Given the description of an element on the screen output the (x, y) to click on. 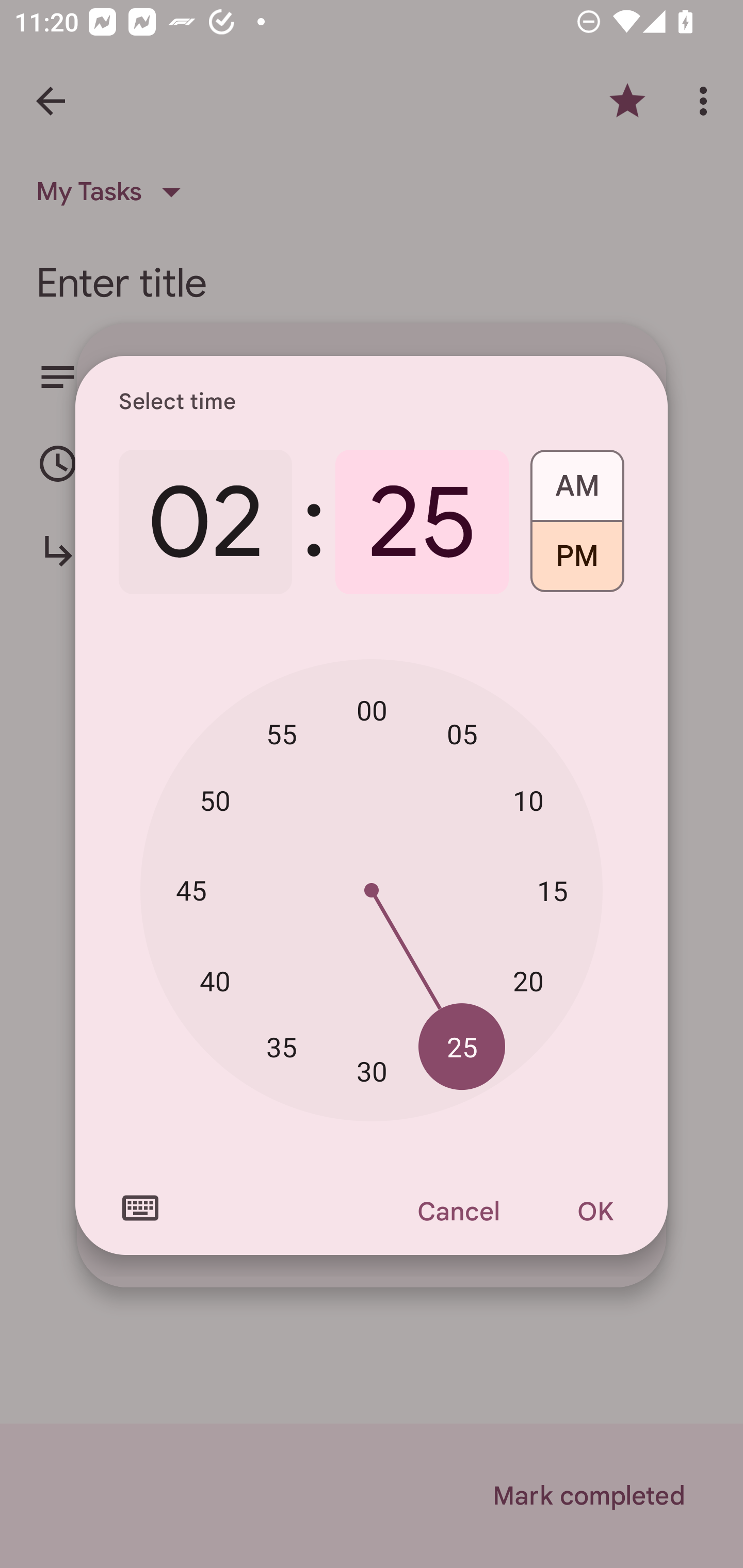
AM (577, 478)
02 2 o'clock (204, 522)
25 25 minutes (421, 522)
PM (577, 563)
00 00 minutes (371, 710)
55 55 minutes (281, 733)
05 05 minutes (462, 733)
50 50 minutes (214, 800)
10 10 minutes (528, 800)
45 45 minutes (190, 889)
15 15 minutes (551, 890)
40 40 minutes (214, 980)
20 20 minutes (528, 980)
35 35 minutes (281, 1046)
25 25 minutes (462, 1046)
30 30 minutes (371, 1071)
Switch to text input mode for the time input. (140, 1208)
Cancel (458, 1211)
OK (595, 1211)
